Given the description of an element on the screen output the (x, y) to click on. 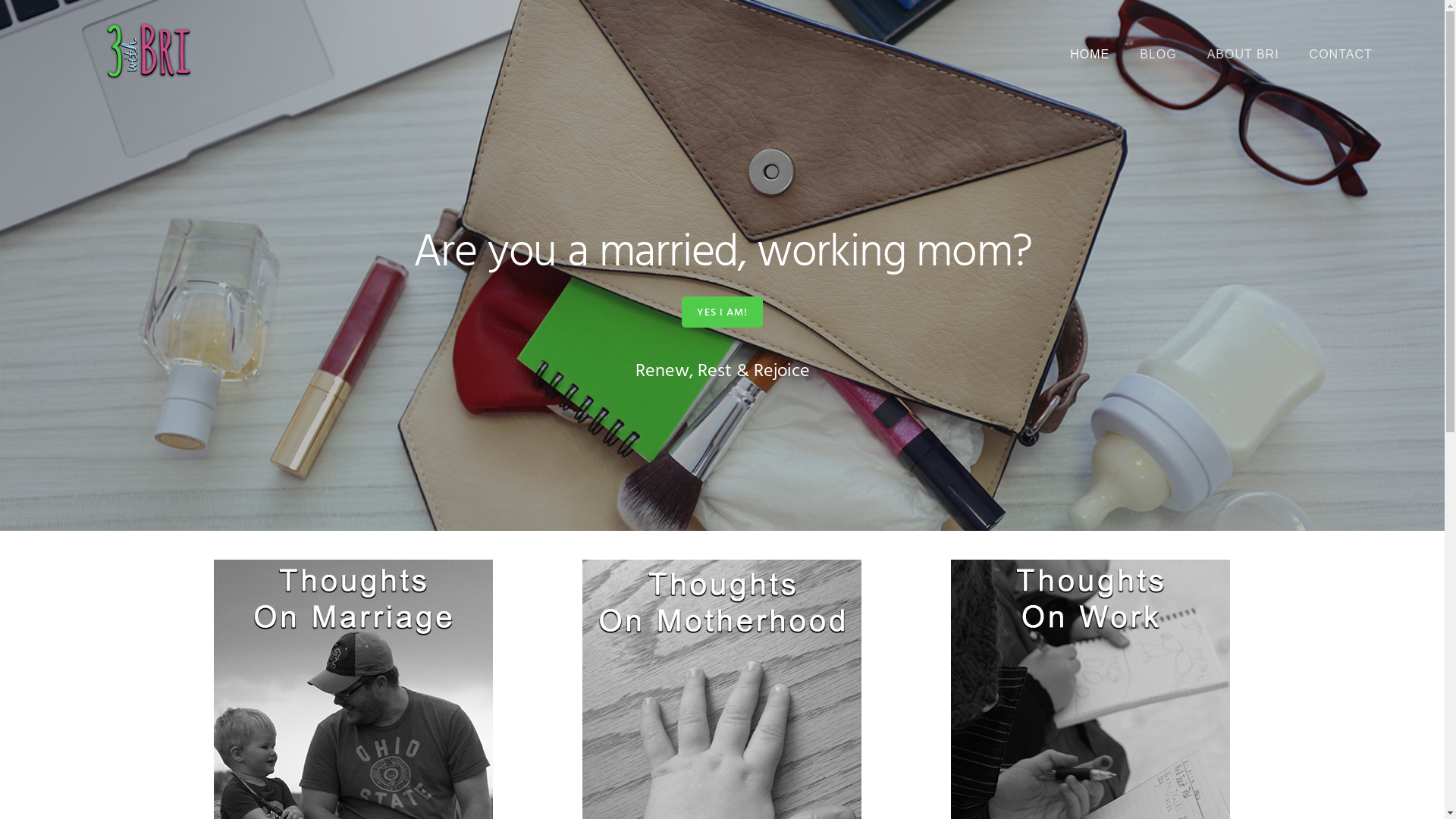
3 with Bri Element type: text (147, 50)
YES I AM! Element type: text (721, 310)
BLOG Element type: text (1157, 54)
CONTACT Element type: text (1340, 54)
ABOUT BRI Element type: text (1243, 54)
HOME Element type: text (1089, 54)
Skip to primary navigation Element type: text (0, 0)
